Given the description of an element on the screen output the (x, y) to click on. 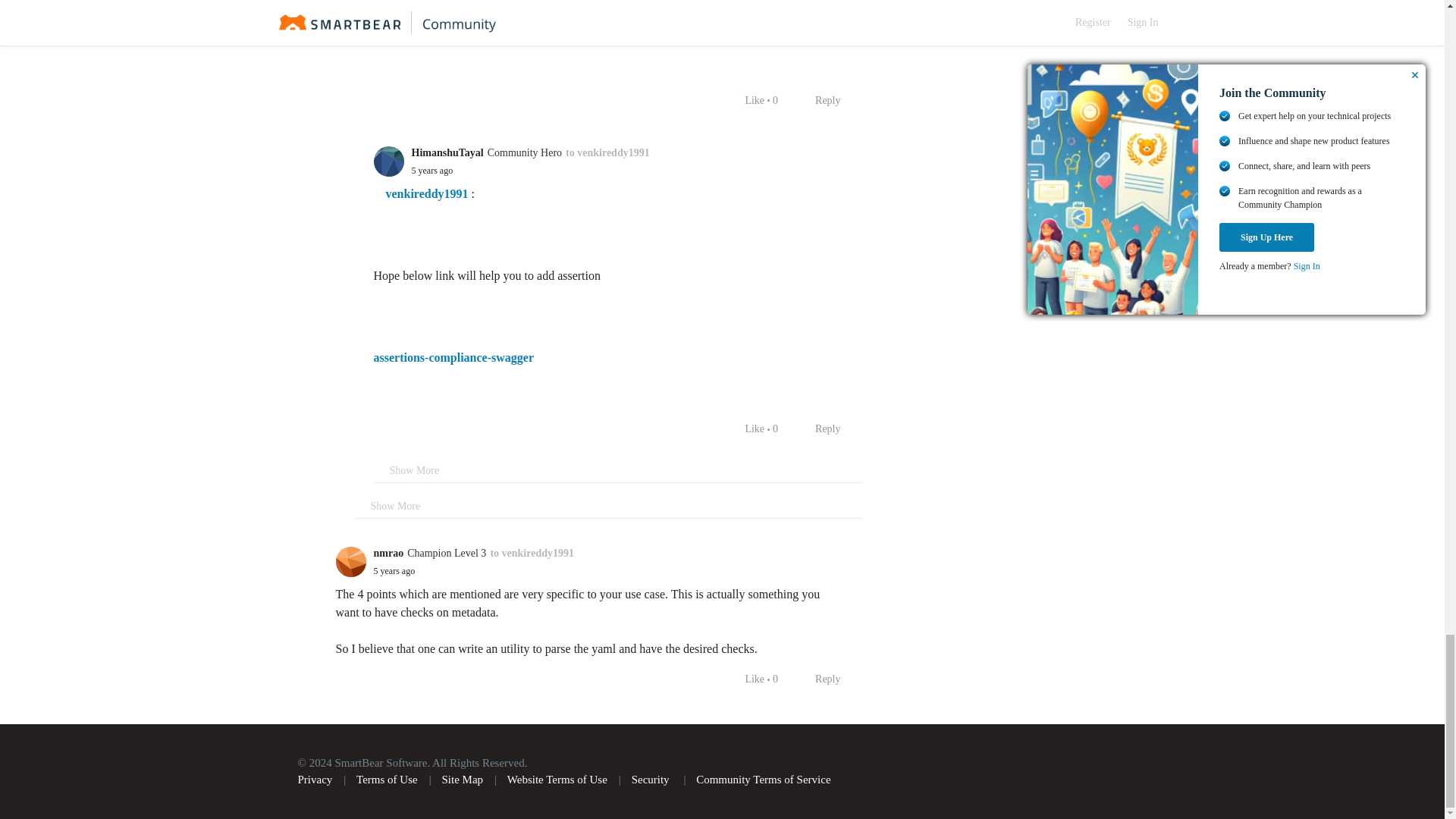
April 22, 2020 at 5:34 AM (393, 570)
Show More (609, 505)
April 17, 2020 at 7:07 PM (431, 170)
